Given the description of an element on the screen output the (x, y) to click on. 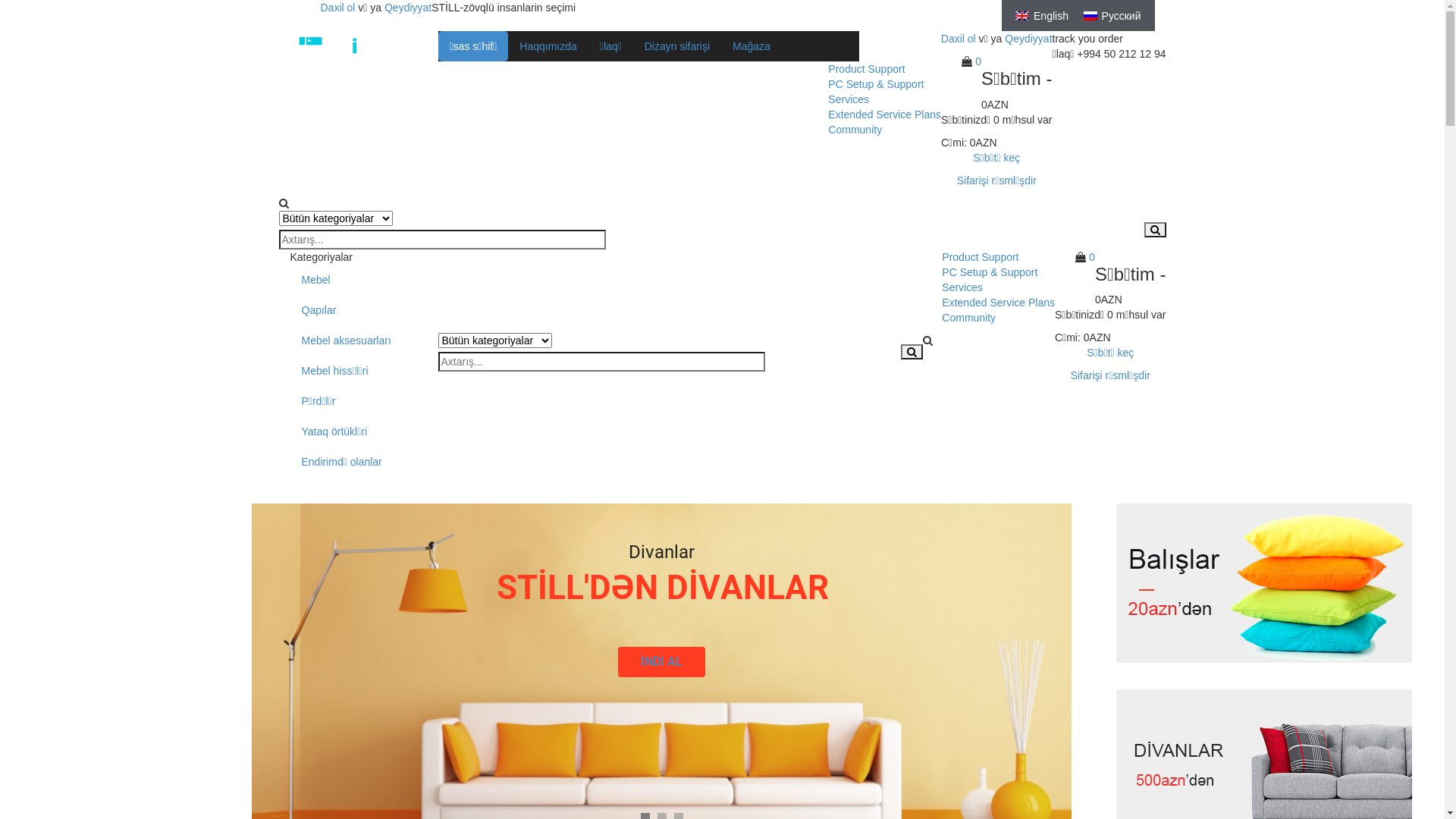
Daxil ol Element type: text (337, 7)
Services Element type: text (848, 99)
Community Element type: text (968, 317)
INDI AL Element type: text (374, 675)
Extended Service Plans Element type: text (997, 302)
Product Support Element type: text (979, 257)
Qeydiyyat Element type: text (1027, 38)
Extended Service Plans Element type: text (884, 114)
Qeydiyyat Element type: text (407, 7)
Community Element type: text (854, 129)
English Element type: text (1041, 15)
0 Element type: text (978, 61)
0 Element type: text (1091, 257)
PC Setup & Support Element type: text (875, 84)
Daxil ol Element type: text (958, 38)
Services Element type: text (961, 287)
PC Setup & Support Element type: text (989, 272)
Product Support Element type: text (866, 68)
Mebel Element type: text (351, 279)
